Given the description of an element on the screen output the (x, y) to click on. 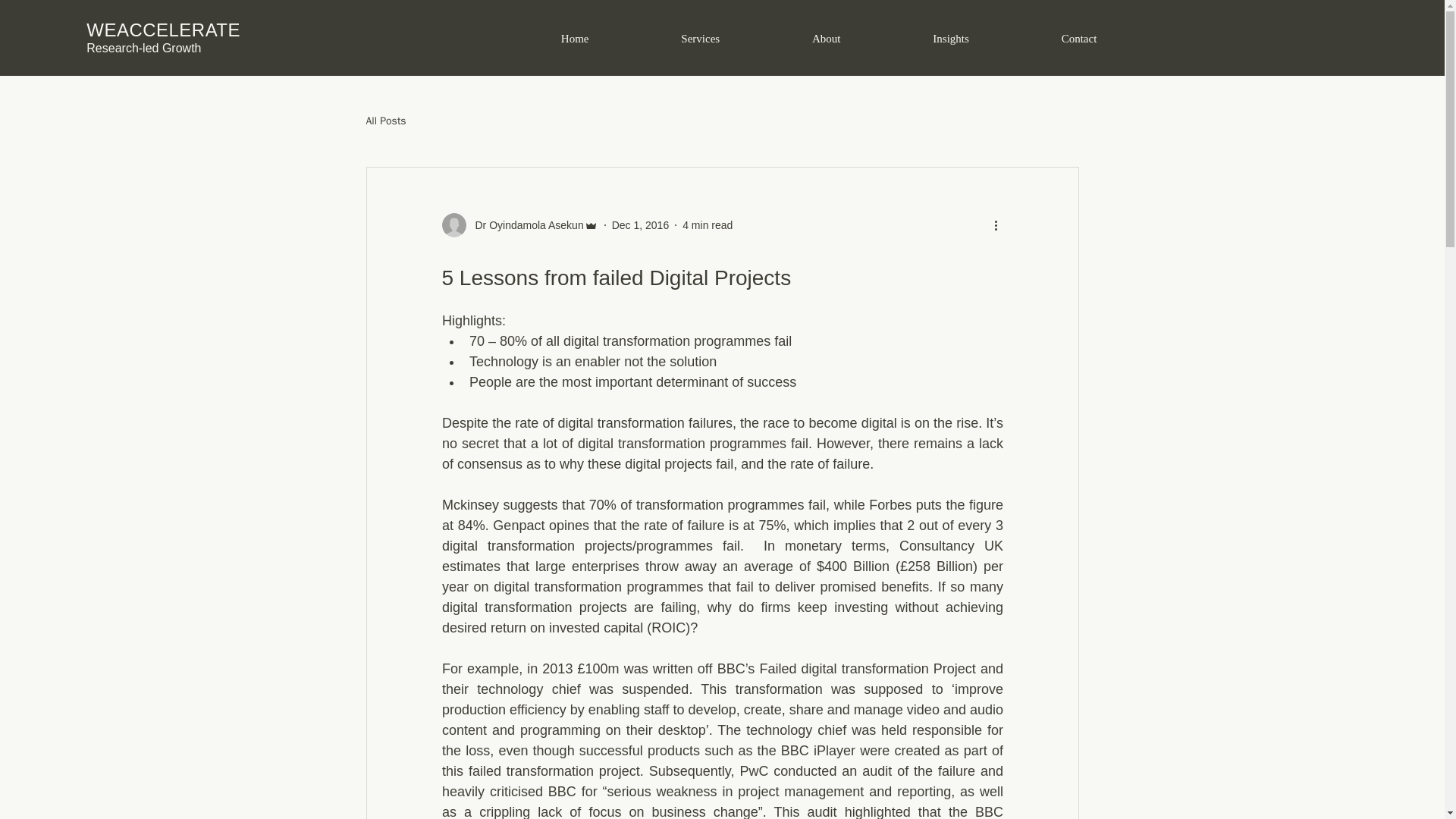
4 min read (707, 224)
About (825, 38)
Contact (1078, 38)
Services (699, 38)
All Posts (385, 120)
Home (574, 38)
Insights (950, 38)
Dr Oyindamola Asekun (524, 224)
Dec 1, 2016 (640, 224)
